Given the description of an element on the screen output the (x, y) to click on. 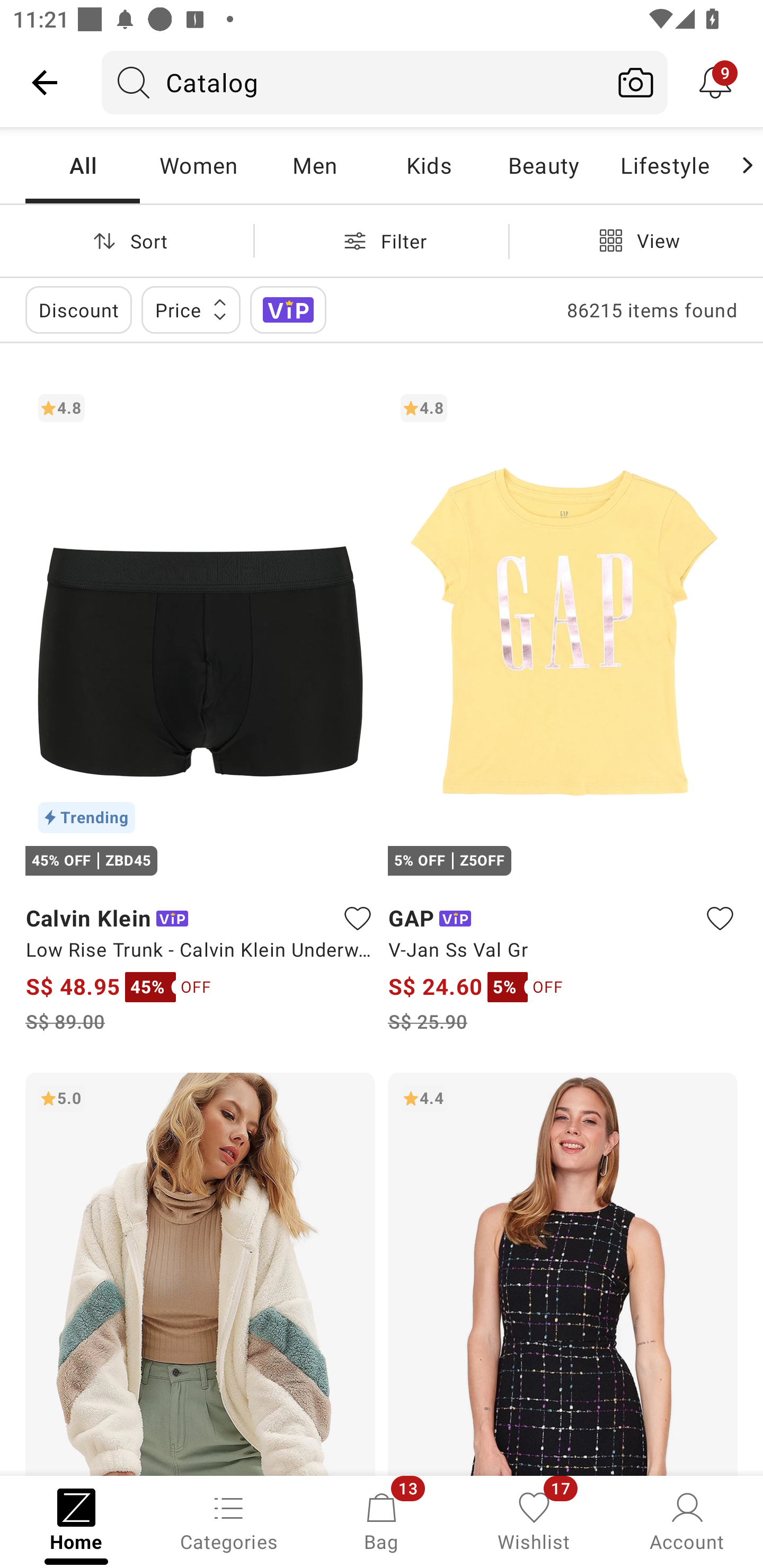
Navigate up (44, 82)
Catalog (352, 82)
Women (198, 165)
Men (314, 165)
Kids (428, 165)
Beauty (543, 165)
Lifestyle (664, 165)
Sort (126, 240)
Filter (381, 240)
View (636, 240)
Discount (78, 309)
Price (190, 309)
5.0 (200, 1272)
4.4 (562, 1272)
Categories (228, 1519)
Bag, 13 new notifications Bag (381, 1519)
Wishlist, 17 new notifications Wishlist (533, 1519)
Account (686, 1519)
